Given the description of an element on the screen output the (x, y) to click on. 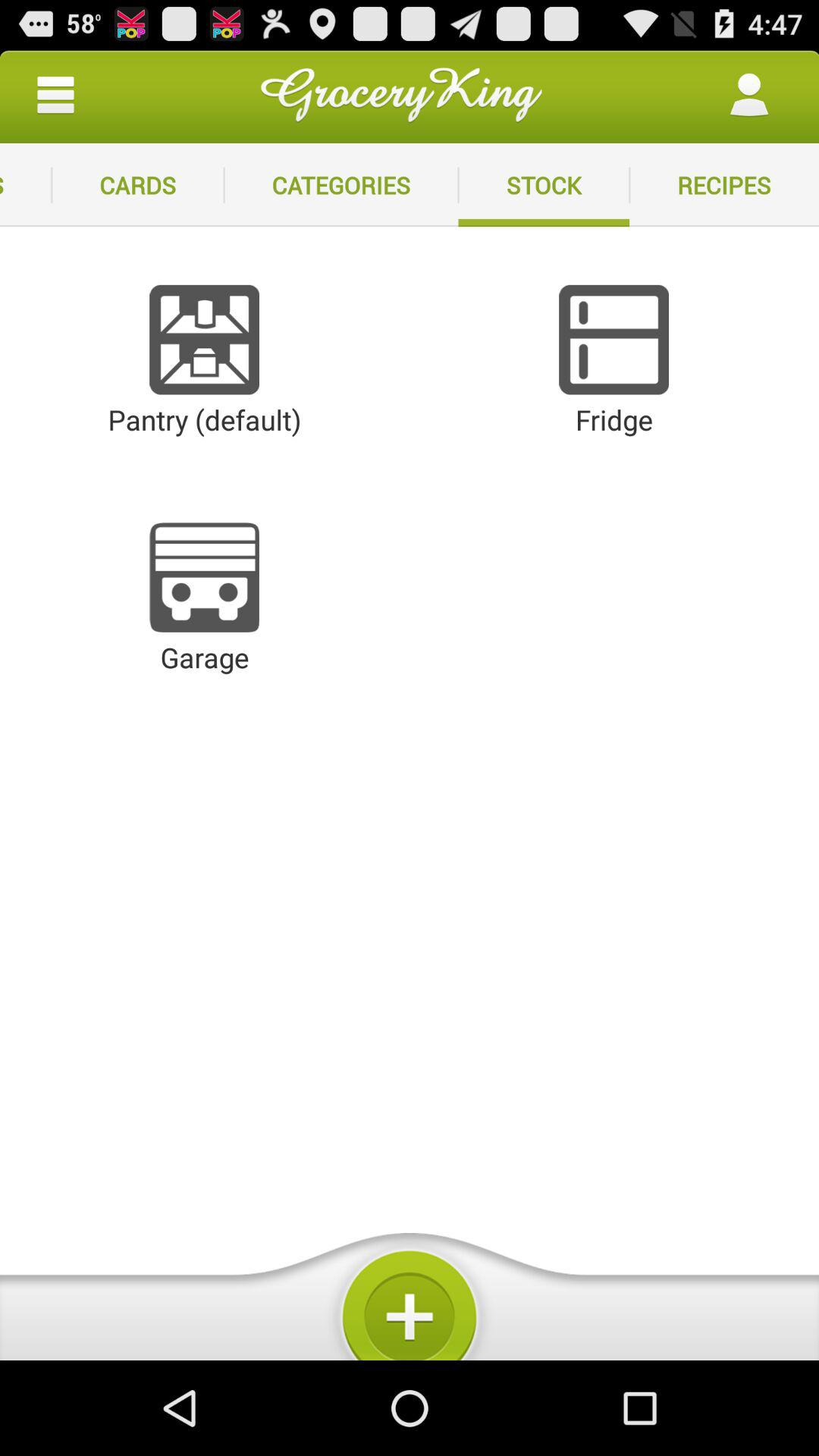
turn on app next to stock (724, 184)
